Given the description of an element on the screen output the (x, y) to click on. 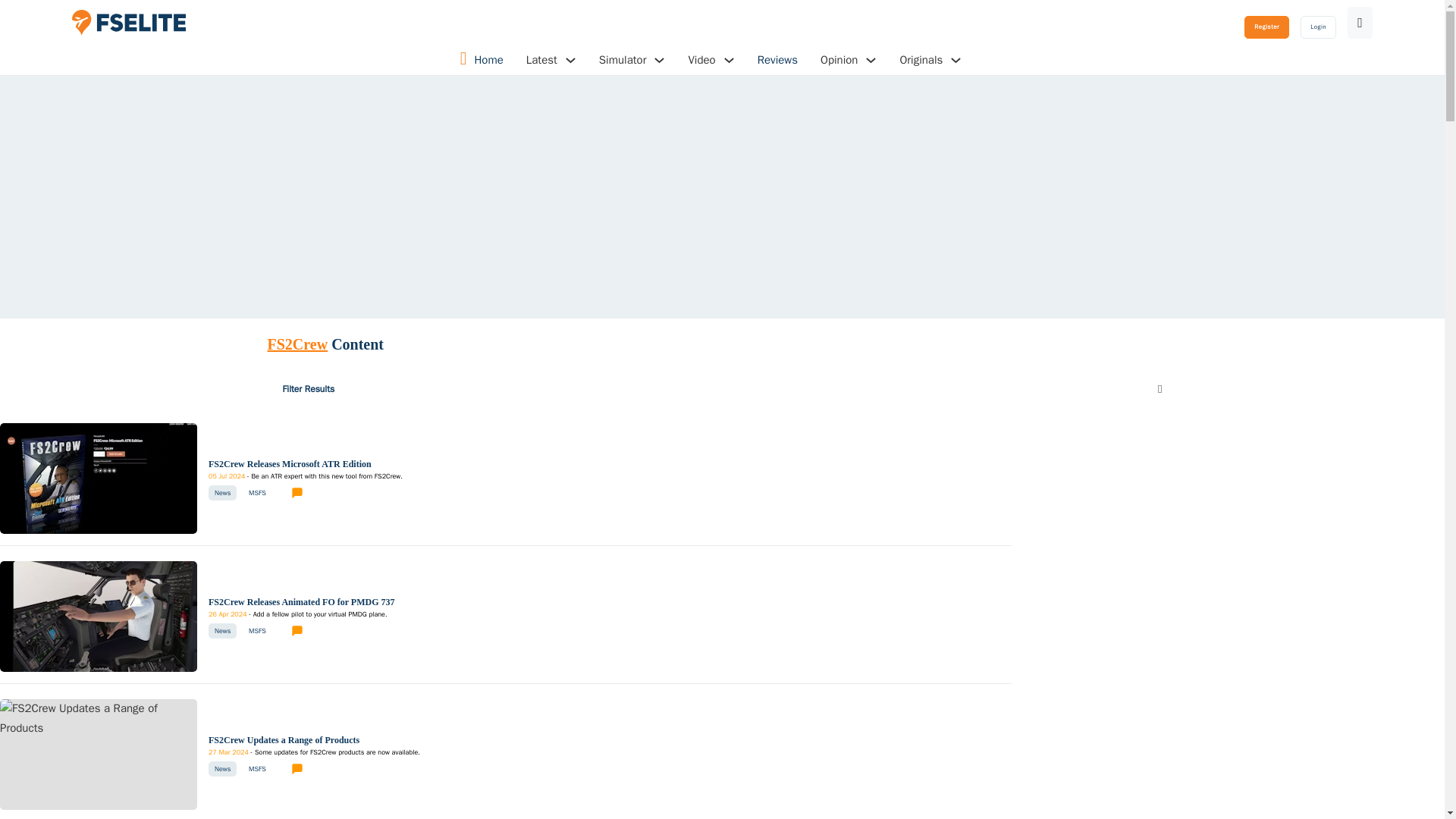
FS2Crew Updates a Range of Products (98, 717)
Latest (541, 60)
FS2Crew Updates a Range of Products (314, 752)
Video (700, 60)
FS2Crew Releases Animated FO for PMDG 737 (98, 615)
FS2Crew Releases Animated FO for PMDG 737 (301, 602)
Register (1266, 26)
Home (488, 61)
FS2Crew Updates a Range of Products (283, 739)
Login to FSElite (1318, 26)
